Given the description of an element on the screen output the (x, y) to click on. 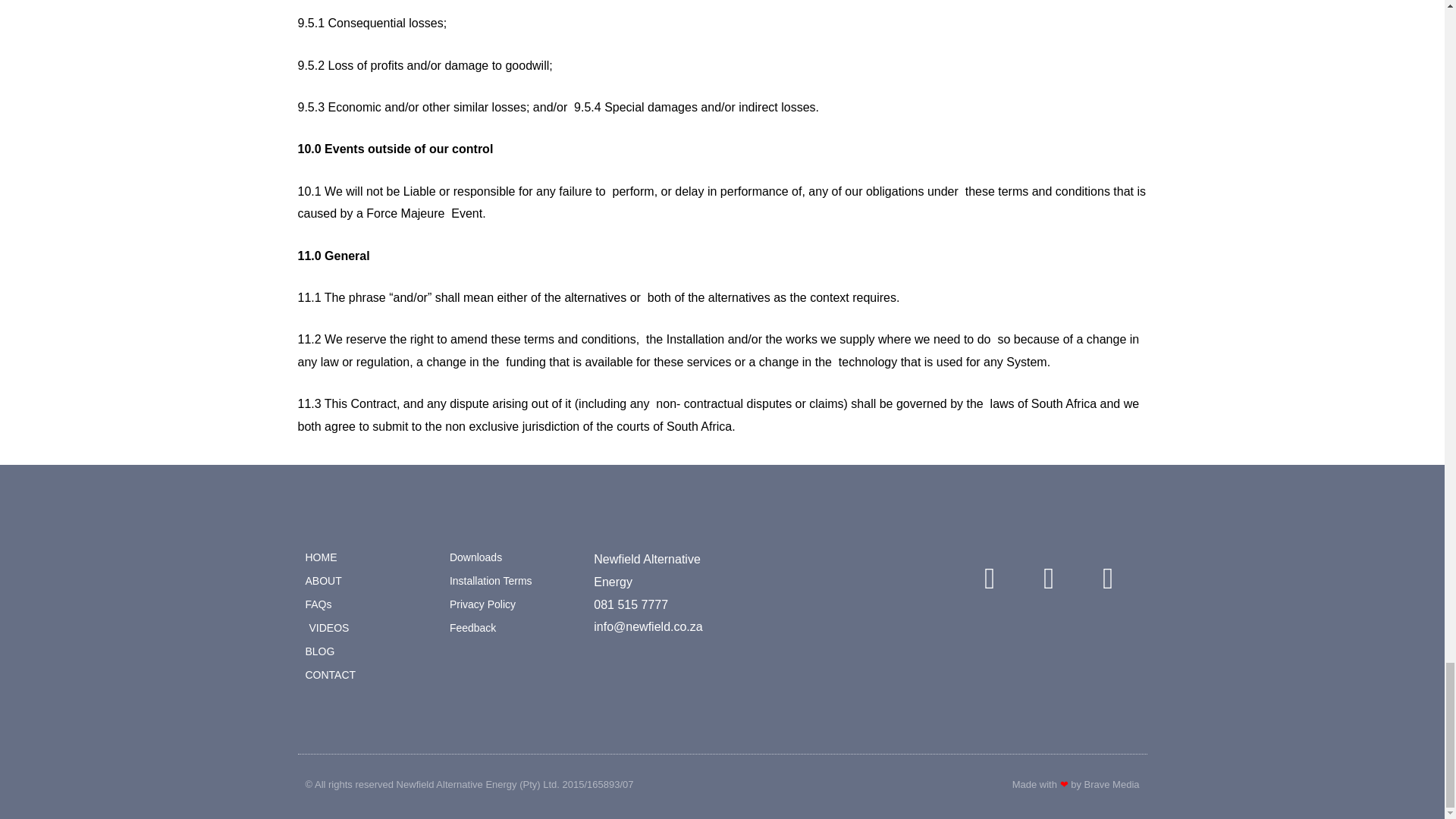
Privacy Policy (513, 605)
BLOG (368, 651)
ABOUT (368, 581)
Instagram (1048, 577)
VIDEOS (368, 628)
HOME (368, 557)
Feedback (513, 628)
FAQs (368, 605)
Linkedin (1107, 577)
CONTACT (368, 675)
Downloads (513, 557)
Installation Terms (513, 581)
Facebook-f (989, 577)
